Given the description of an element on the screen output the (x, y) to click on. 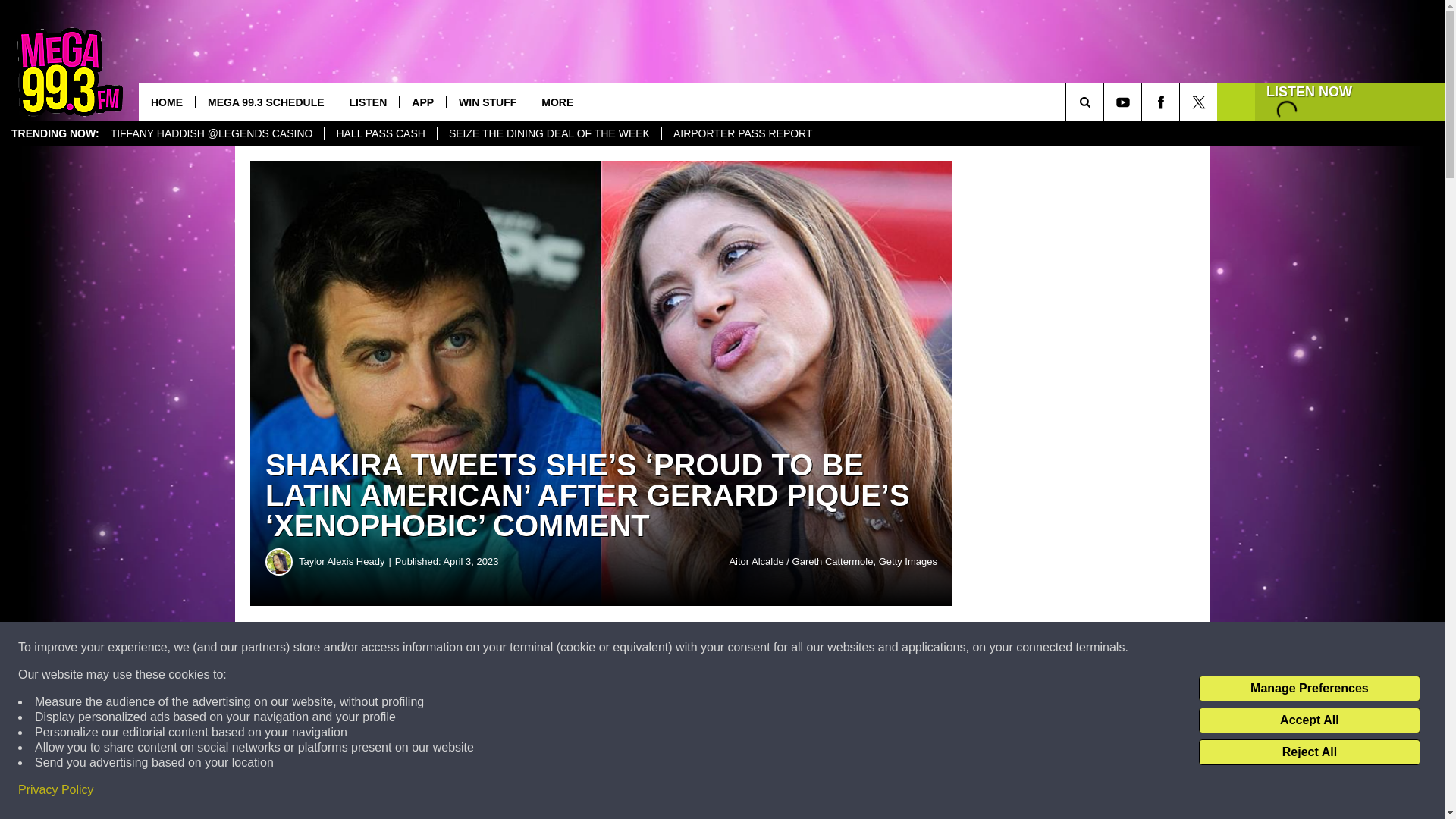
MORE (556, 102)
MEGA 99.3 SCHEDULE (265, 102)
Manage Preferences (1309, 688)
HALL PASS CASH (379, 133)
SEIZE THE DINING DEAL OF THE WEEK (548, 133)
Accept All (1309, 720)
Privacy Policy (55, 789)
Share on Facebook (460, 647)
SEARCH (1106, 102)
HOME (166, 102)
